Given the description of an element on the screen output the (x, y) to click on. 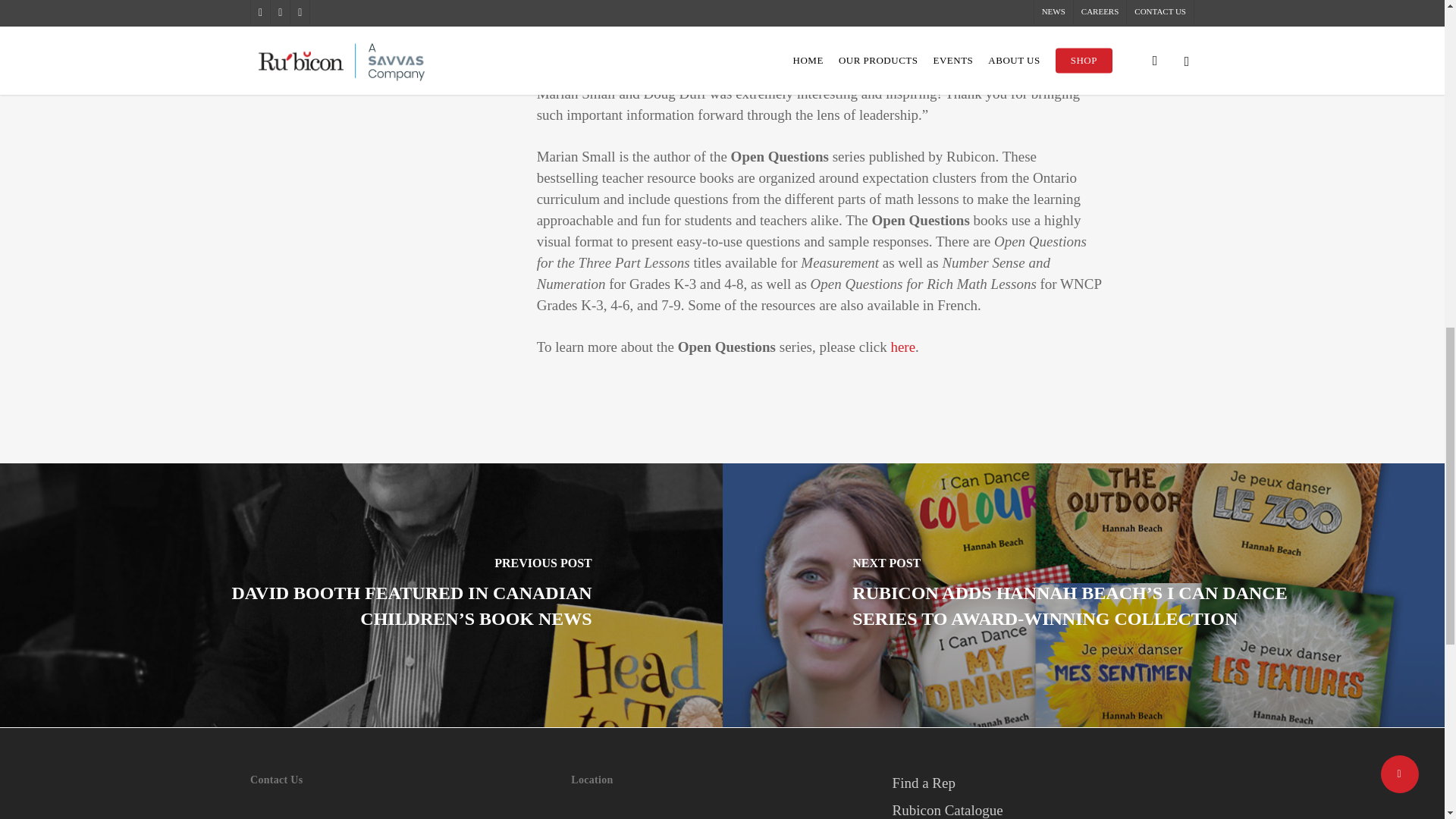
Find a Rep (1042, 783)
Rubicon Catalogue (1042, 809)
here (902, 346)
